Given the description of an element on the screen output the (x, y) to click on. 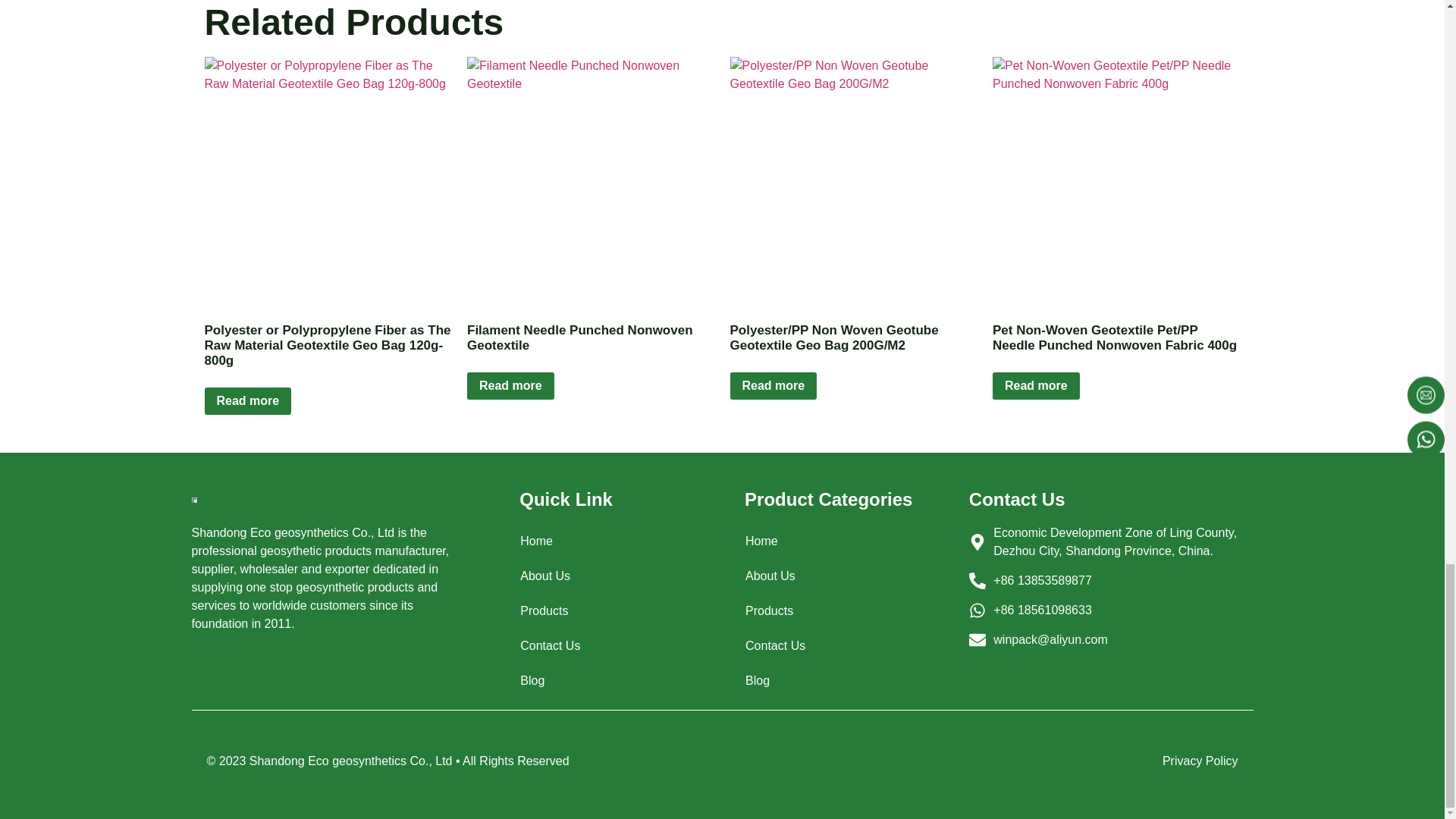
Filament Needle Punched Nonwoven Geotextile (590, 180)
